Given the description of an element on the screen output the (x, y) to click on. 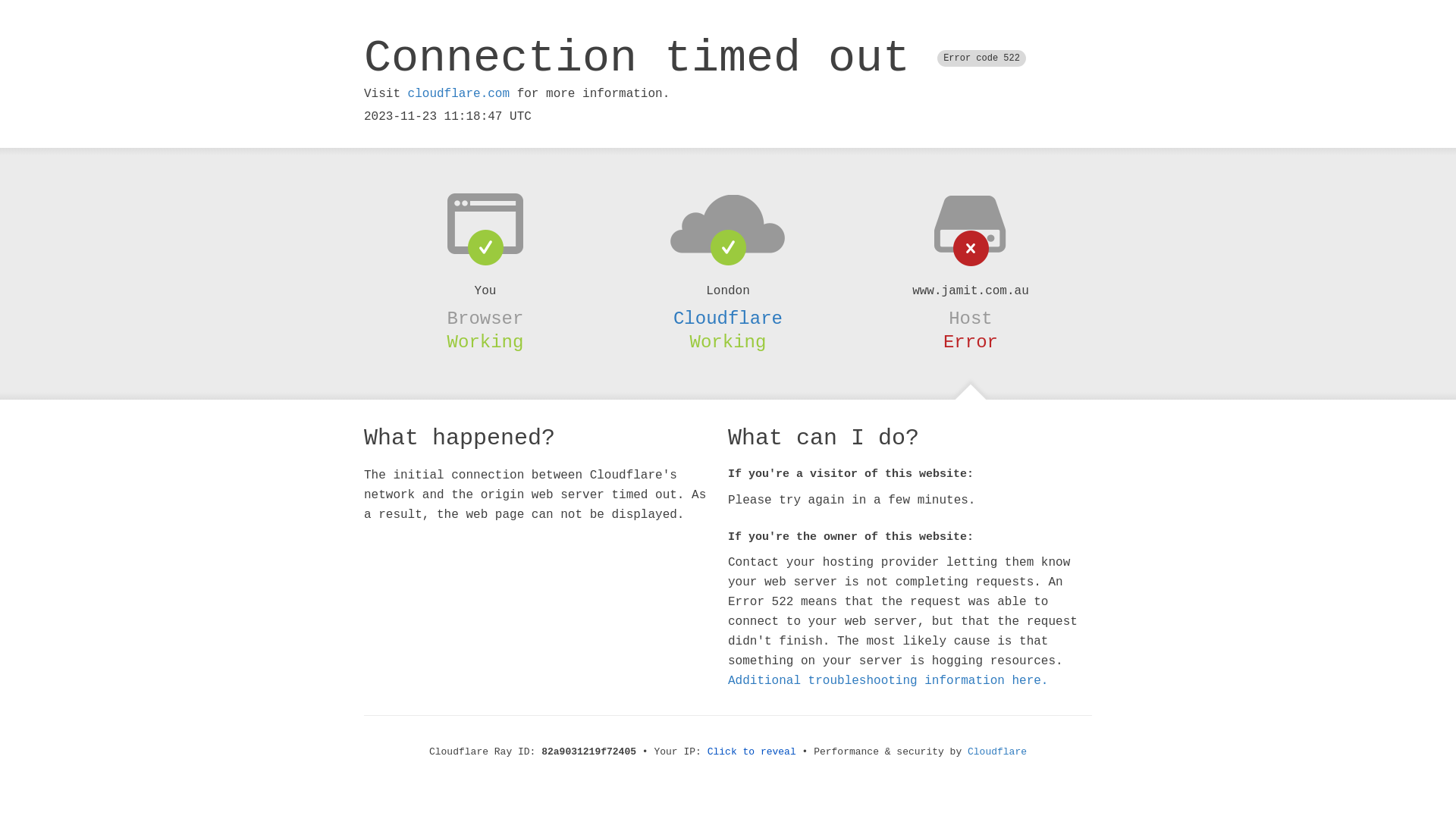
Cloudflare Element type: text (727, 318)
cloudflare.com Element type: text (458, 93)
Cloudflare Element type: text (996, 751)
Click to reveal Element type: text (751, 751)
Additional troubleshooting information here. Element type: text (888, 680)
